Given the description of an element on the screen output the (x, y) to click on. 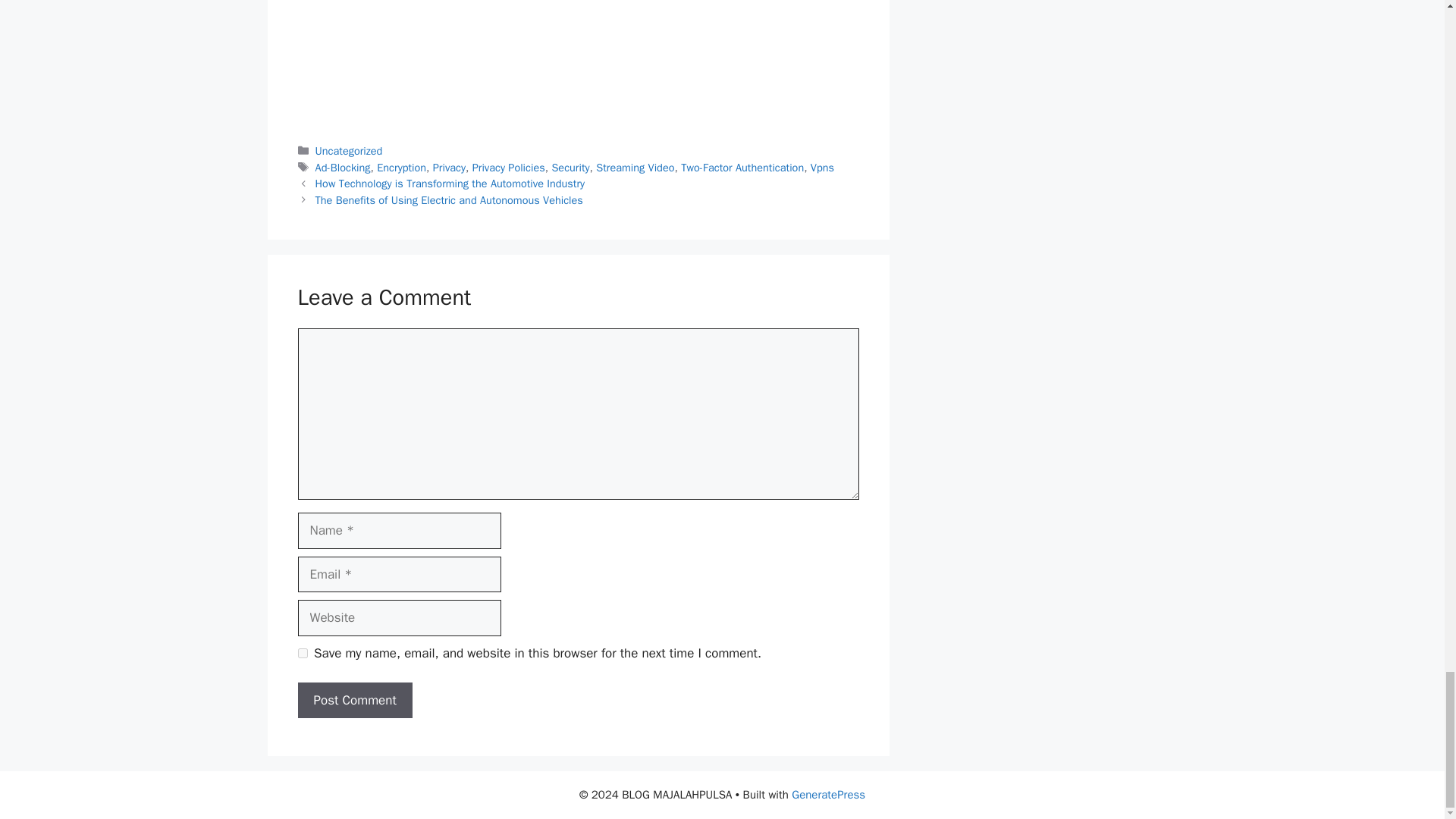
Post Comment (354, 700)
Privacy (448, 167)
Streaming Video (634, 167)
How Technology is Transforming the Automotive Industry (450, 183)
Post Comment (354, 700)
Vpns (822, 167)
Privacy Policies (507, 167)
Security (570, 167)
Ad-Blocking (343, 167)
Two-Factor Authentication (742, 167)
Uncategorized (348, 151)
The Benefits of Using Electric and Autonomous Vehicles (449, 200)
yes (302, 653)
Encryption (401, 167)
